Given the description of an element on the screen output the (x, y) to click on. 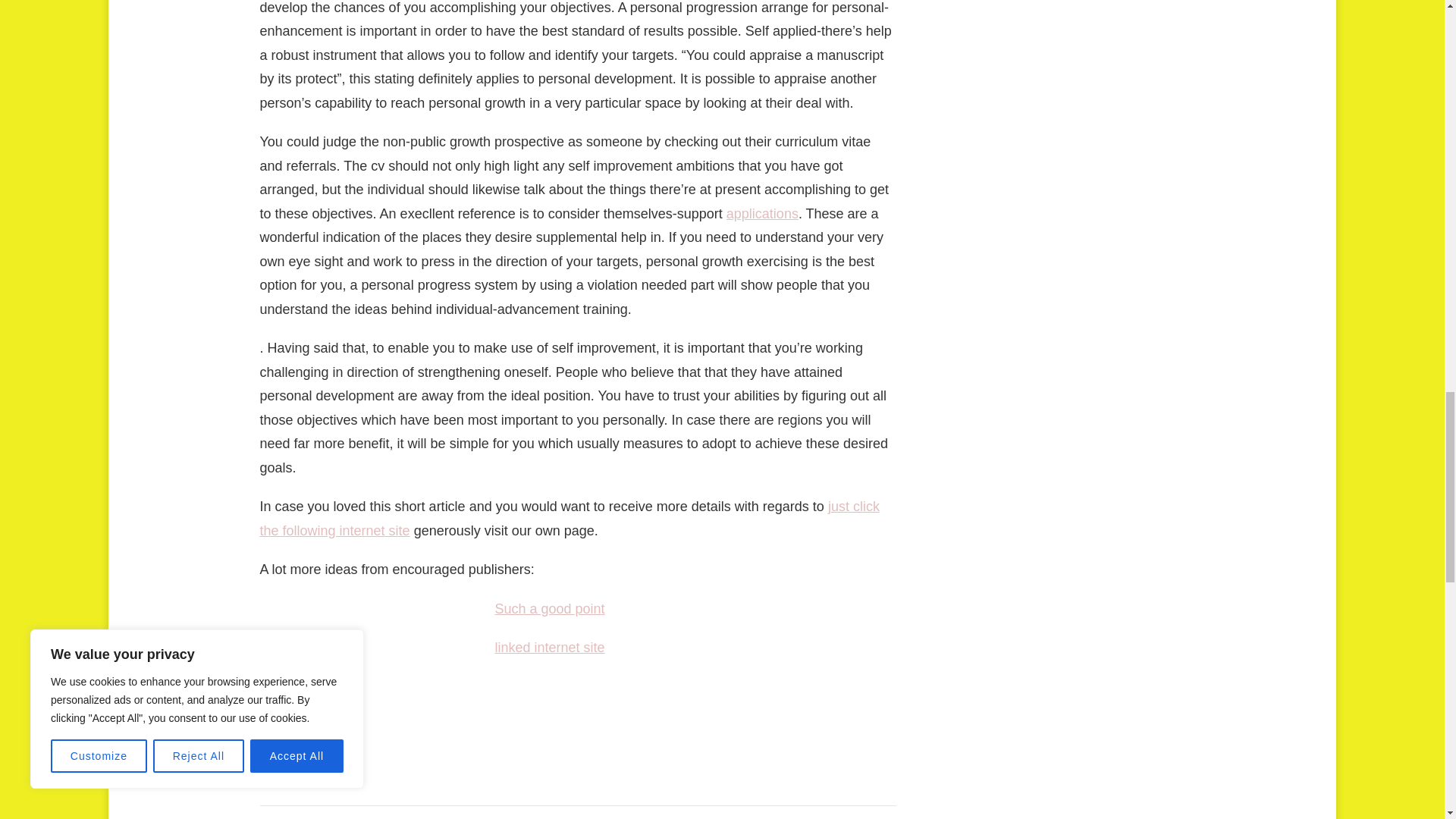
IDEAS (286, 744)
Such a good point (549, 608)
applications (761, 213)
just click the following internet site (569, 518)
linked internet site (549, 647)
